Given the description of an element on the screen output the (x, y) to click on. 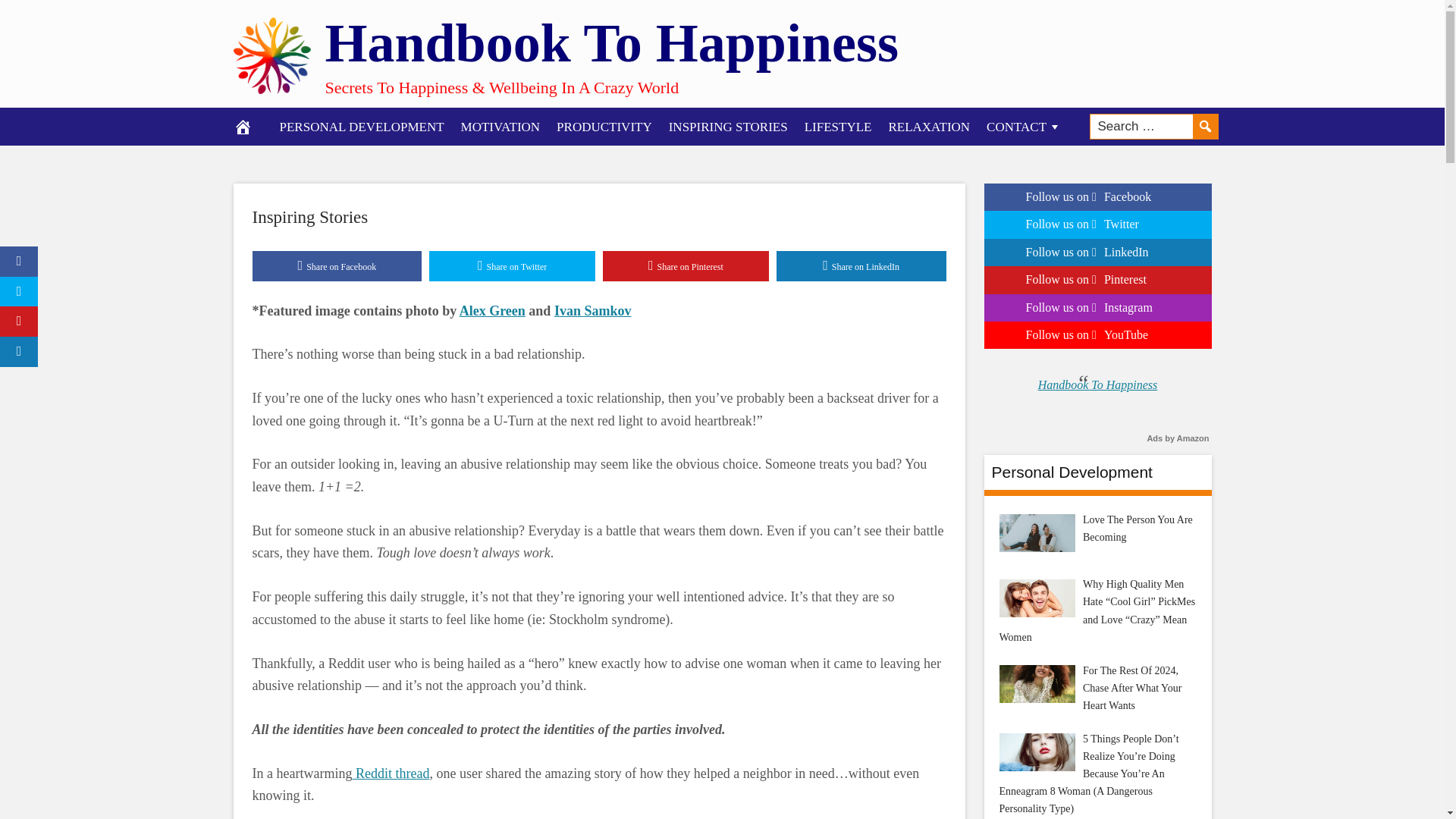
RELAXATION (928, 126)
CONTACT (1024, 126)
INSPIRING STORIES (728, 126)
Inspiring Stories (309, 217)
Share on Facebook (336, 265)
Inspiring Stories (309, 217)
Handbook To Happiness (611, 42)
LIFESTYLE (838, 126)
PERSONAL DEVELOPMENT (361, 126)
PRODUCTIVITY (604, 126)
MOTIVATION (500, 126)
Share on Twitter (512, 265)
